Given the description of an element on the screen output the (x, y) to click on. 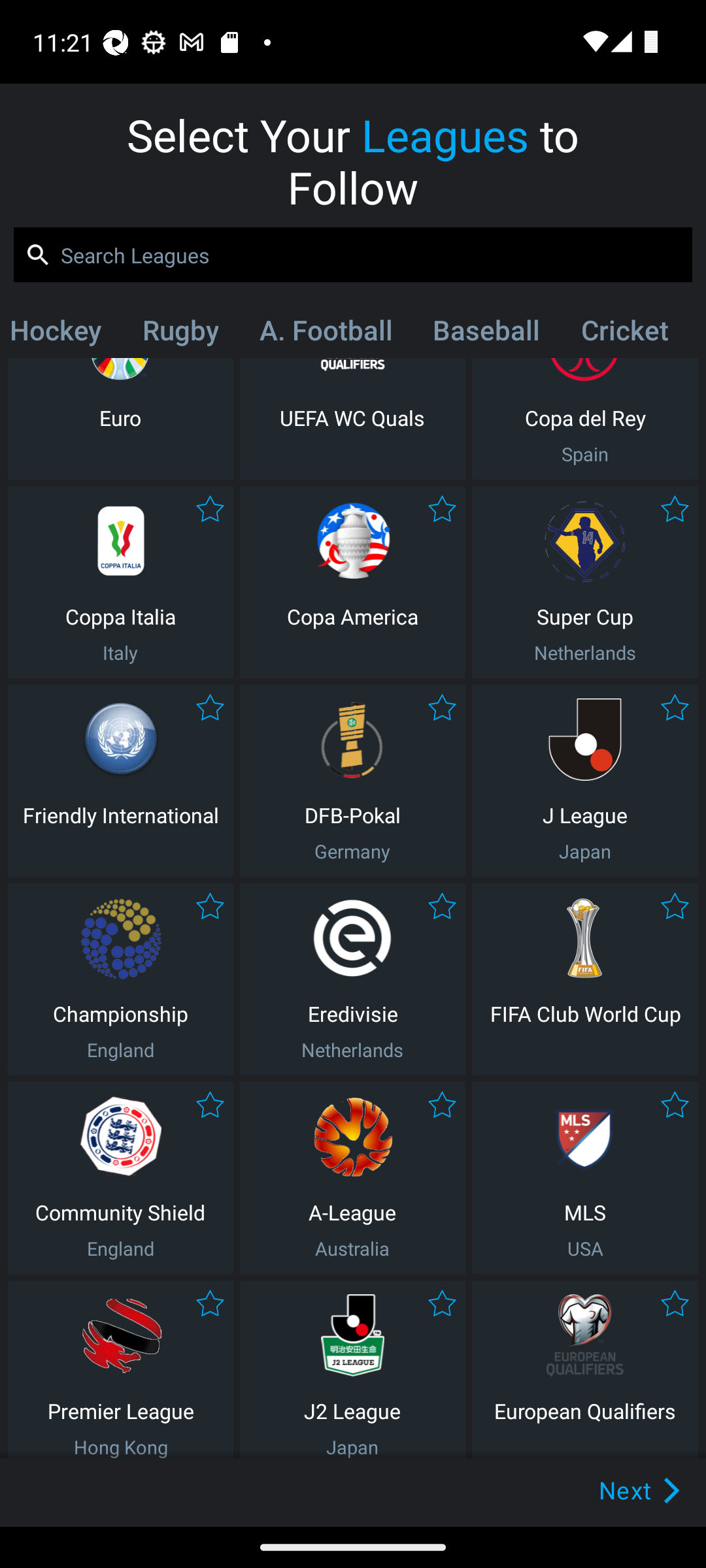
Search Leagues (352, 254)
Hockey (62, 333)
Rugby (179, 333)
A. Football (325, 333)
Baseball (486, 333)
Cricket (624, 333)
Euro (120, 418)
UEFA WC Quals (352, 418)
Copa del Rey Spain (585, 418)
Coppa Italia Italy (120, 581)
Copa America (352, 581)
Super Cup Netherlands (585, 581)
Friendly International (120, 780)
DFB-Pokal Germany (352, 780)
J League Japan (585, 780)
Championship England (120, 978)
Eredivisie Netherlands (352, 978)
FIFA Club World Cup (585, 978)
Community Shield England (120, 1177)
A-League Australia (352, 1177)
MLS USA (585, 1177)
Premier League Hong Kong (120, 1369)
J2 League Japan (352, 1369)
European Qualifiers (585, 1369)
Next (609, 1489)
